Given the description of an element on the screen output the (x, y) to click on. 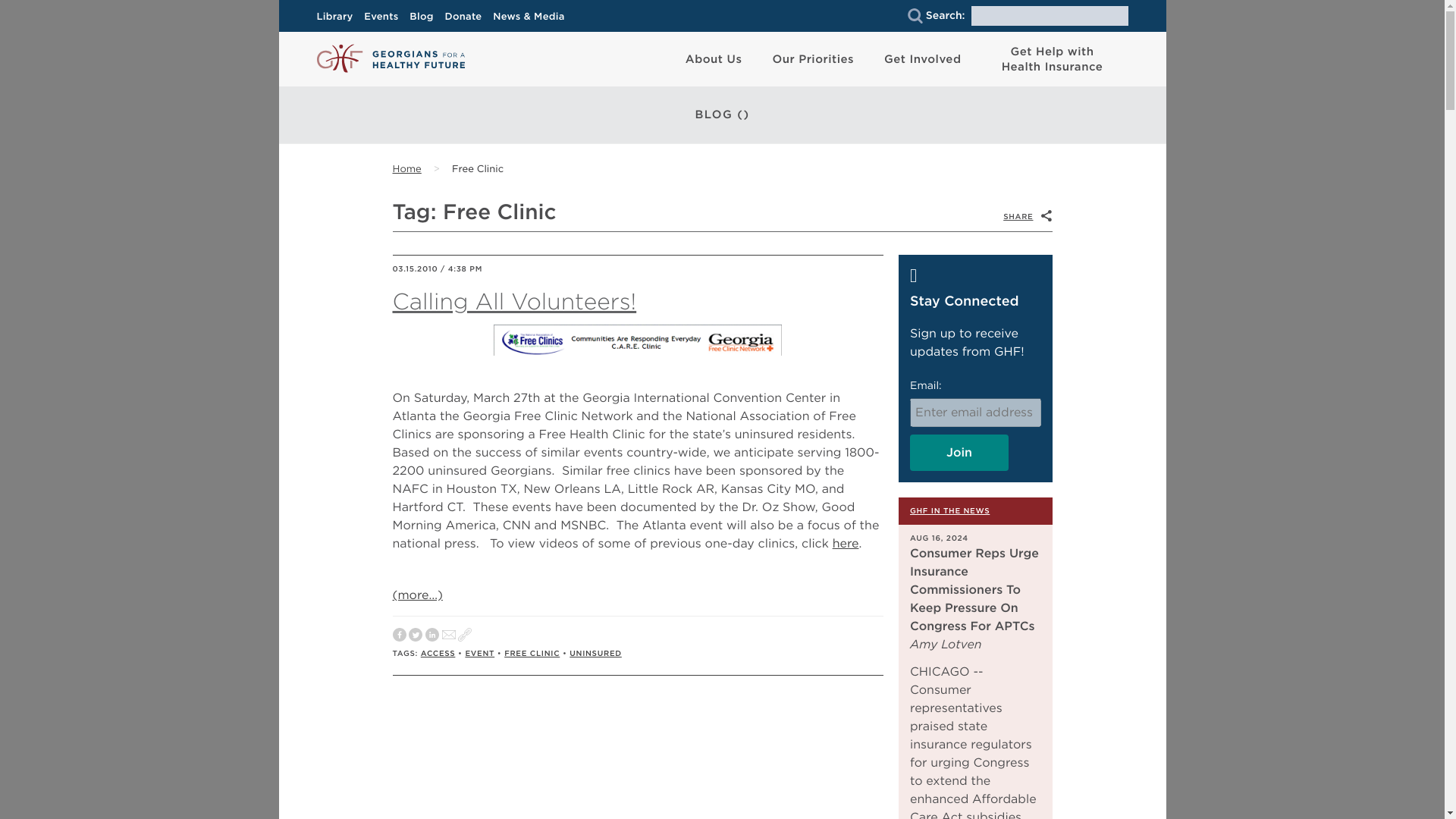
Share on link (464, 635)
Share on twitter (415, 635)
Share on email (448, 635)
Donate (467, 16)
Share on linkedin (432, 635)
Free Clinic (477, 169)
Blog (425, 16)
Events (385, 16)
Header GFCN (637, 339)
